Given the description of an element on the screen output the (x, y) to click on. 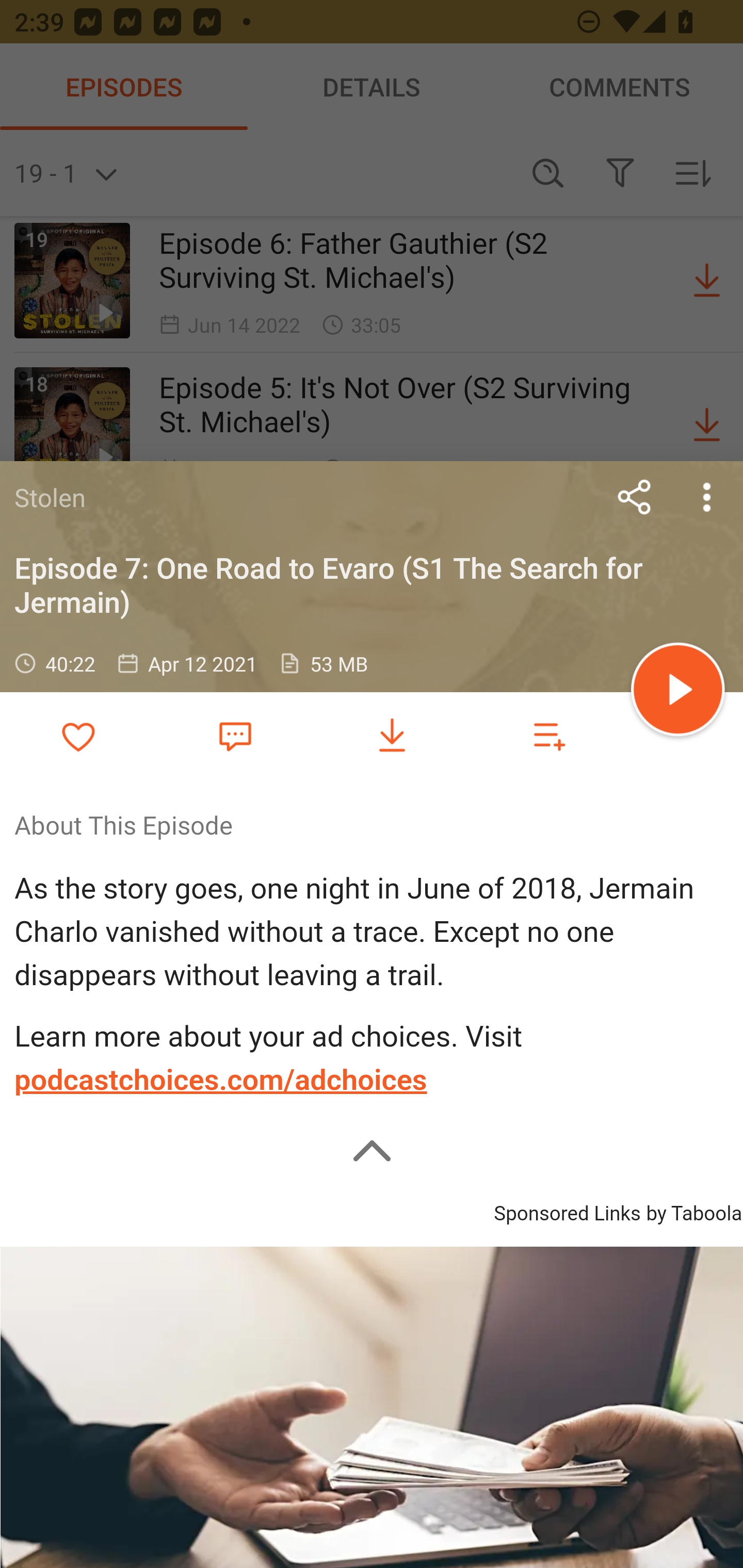
Share (634, 496)
more options (706, 496)
Play (677, 692)
Favorite (234, 735)
Add to Favorites (78, 735)
Download (391, 735)
Add to playlist (548, 735)
podcastchoices.com/adchoices (220, 1079)
Sponsored Links (566, 1210)
by Taboola (693, 1210)
Need Cash? Secure Personal Loans Instantly (371, 1407)
